Given the description of an element on the screen output the (x, y) to click on. 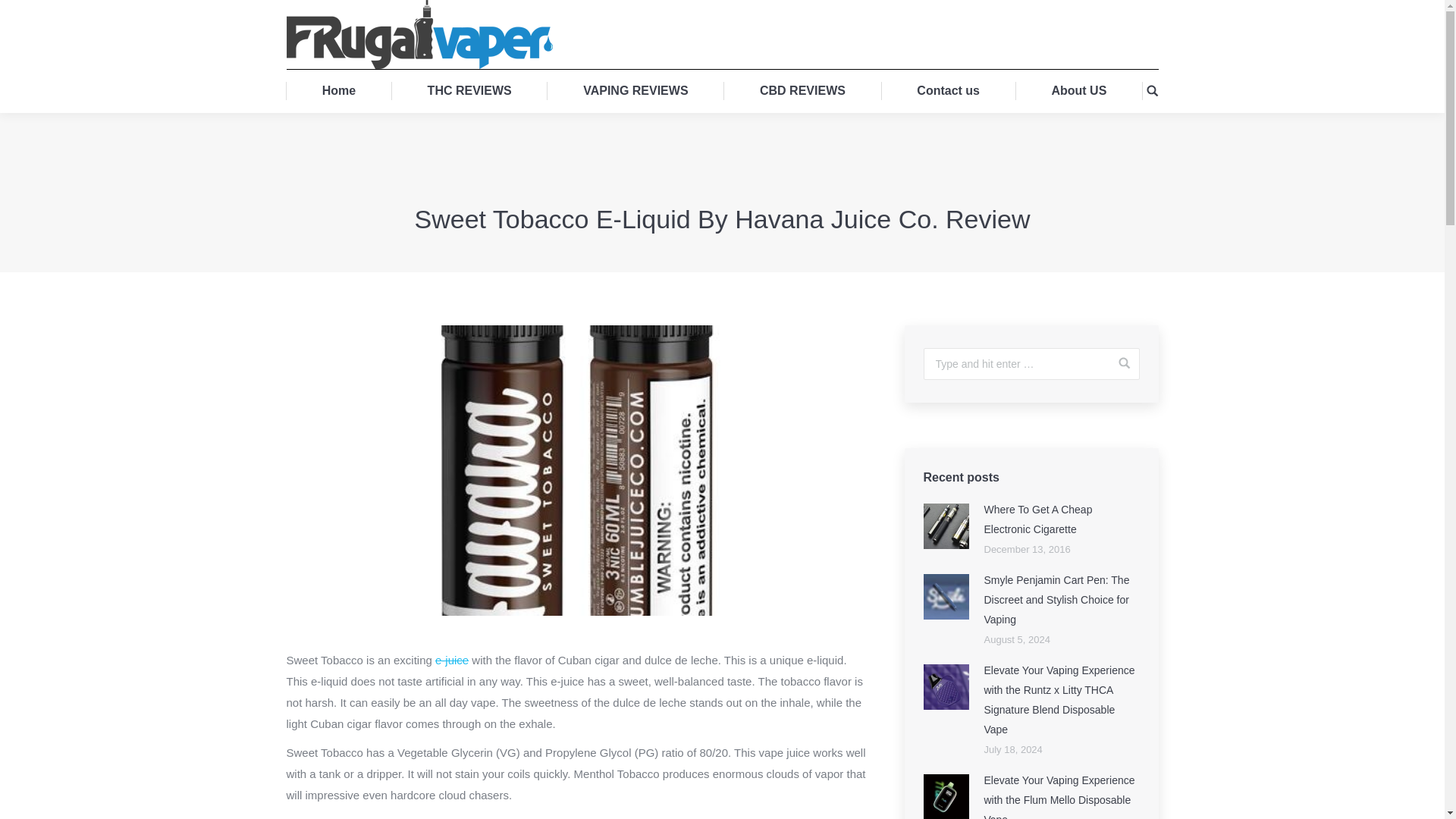
Home (339, 90)
About US (1078, 90)
Go! (1117, 363)
Post Comment (47, 14)
VAPING REVIEWS (635, 90)
Go! (18, 14)
Go! (1117, 363)
e-juice (451, 659)
THC REVIEWS (469, 90)
